Given the description of an element on the screen output the (x, y) to click on. 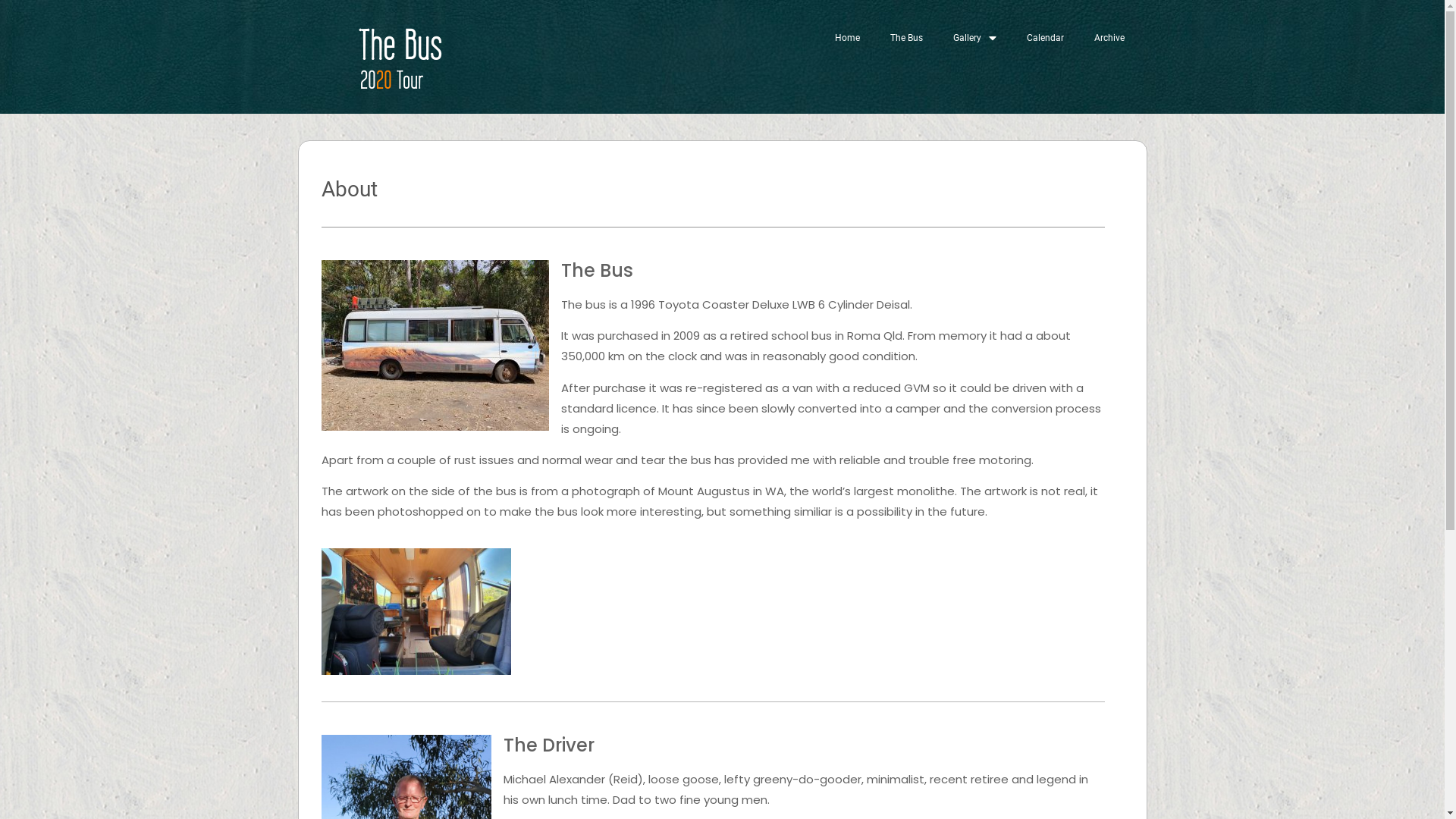
Calendar Element type: text (1045, 37)
Gallery Element type: text (973, 37)
Home Element type: text (846, 37)
Archive Element type: text (1108, 37)
The Bus Element type: text (906, 37)
